Given the description of an element on the screen output the (x, y) to click on. 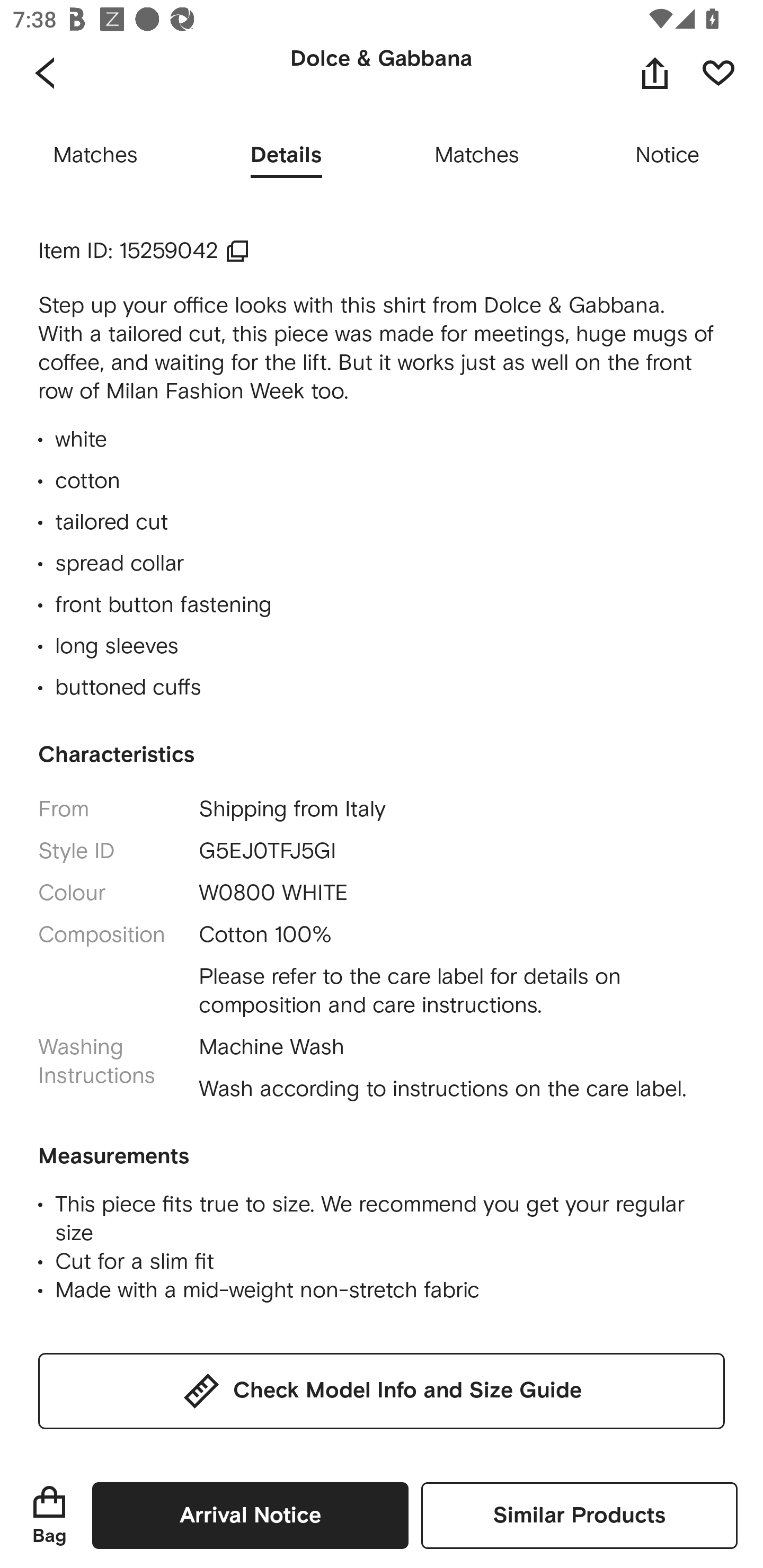
Matches (95, 155)
Matches (476, 155)
Notice (667, 155)
Item ID: 15259042 (144, 251)
 Check Model Info and Size Guide (381, 1390)
Bag (49, 1515)
Arrival Notice (250, 1515)
Similar Products (579, 1515)
